Given the description of an element on the screen output the (x, y) to click on. 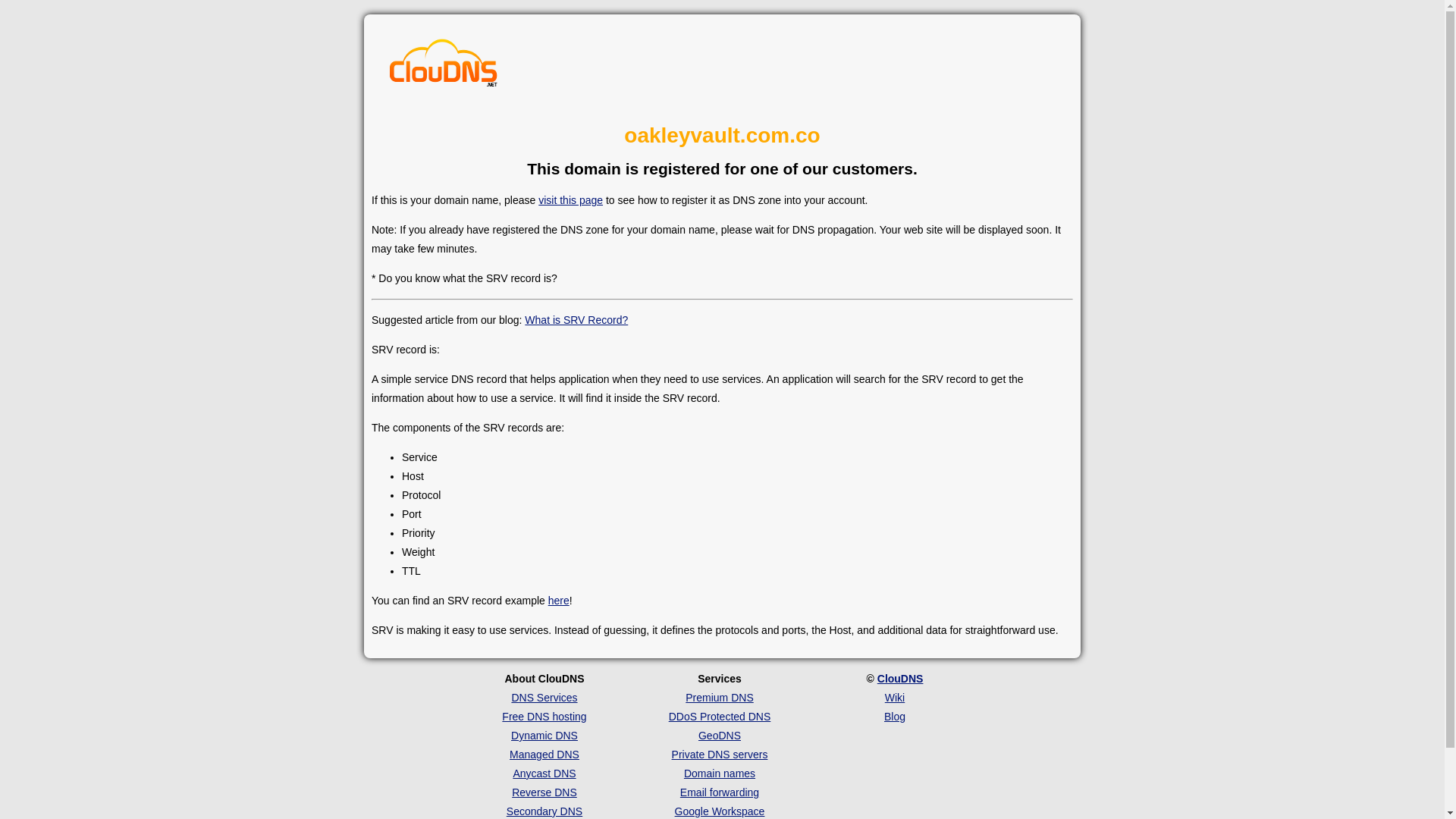
visit this page (570, 200)
Cloud DNS (443, 66)
ClouDNS (900, 678)
DDoS Protected DNS (719, 716)
Dynamic DNS (544, 735)
Domain names (719, 773)
Premium DNS (718, 697)
Private DNS servers (719, 754)
Google Workspace (720, 811)
Managed DNS (544, 754)
Free DNS hosting (544, 716)
GeoDNS (719, 735)
Email forwarding (718, 792)
DNS Services (543, 697)
What is SRV Record? (575, 319)
